Given the description of an element on the screen output the (x, y) to click on. 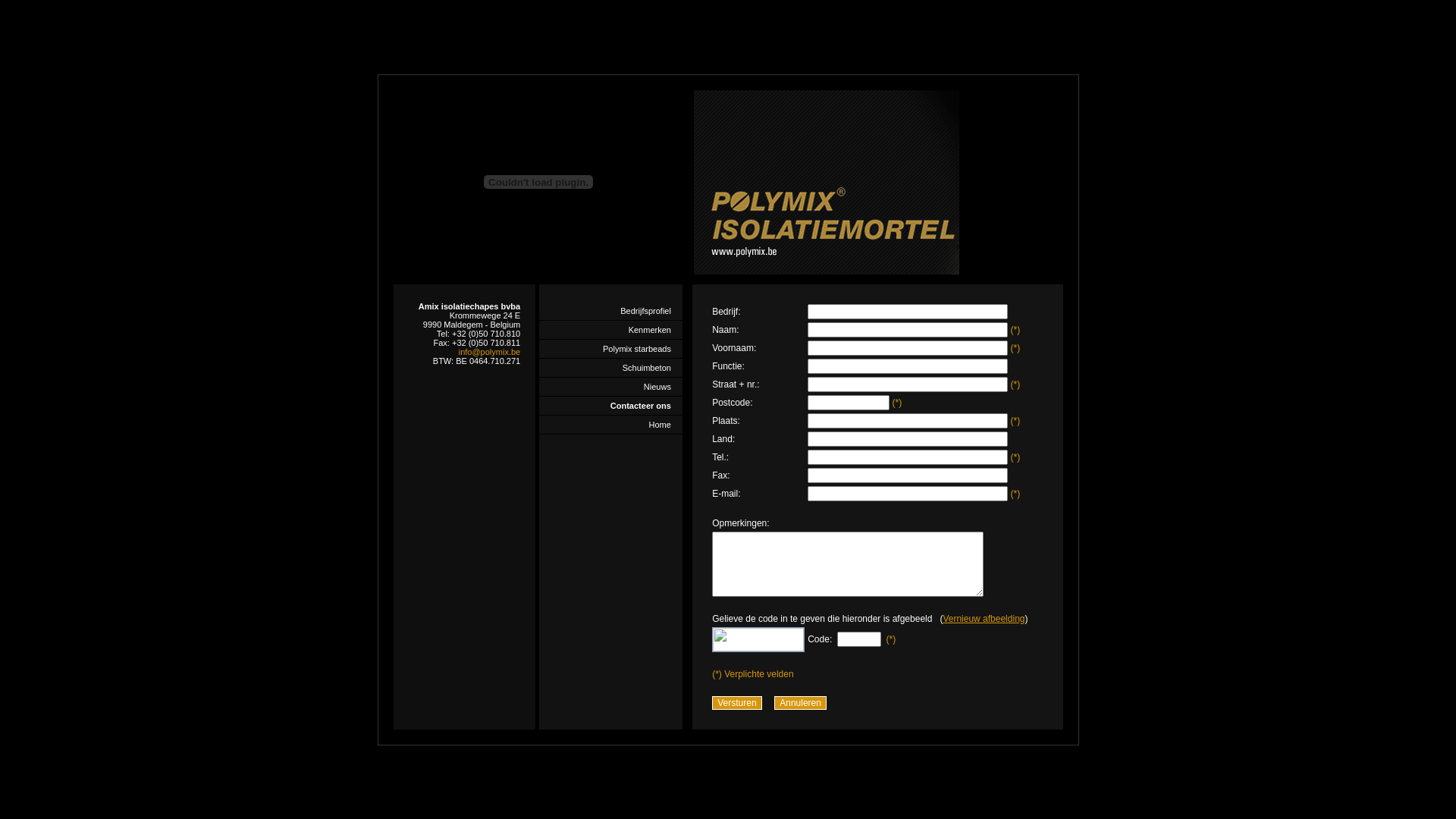
Vernieuw afbeelding Element type: text (983, 617)
Home      Element type: text (610, 424)
Nieuws      Element type: text (610, 386)
Kenmerken      Element type: text (610, 328)
info@polymix.be Element type: text (489, 351)
Schuimbeton      Element type: text (610, 366)
Versturen Element type: text (736, 702)
Bedrijfsprofiel      Element type: text (610, 310)
Polymix starbeads      Element type: text (610, 348)
Contacteer ons      Element type: text (610, 404)
